Given the description of an element on the screen output the (x, y) to click on. 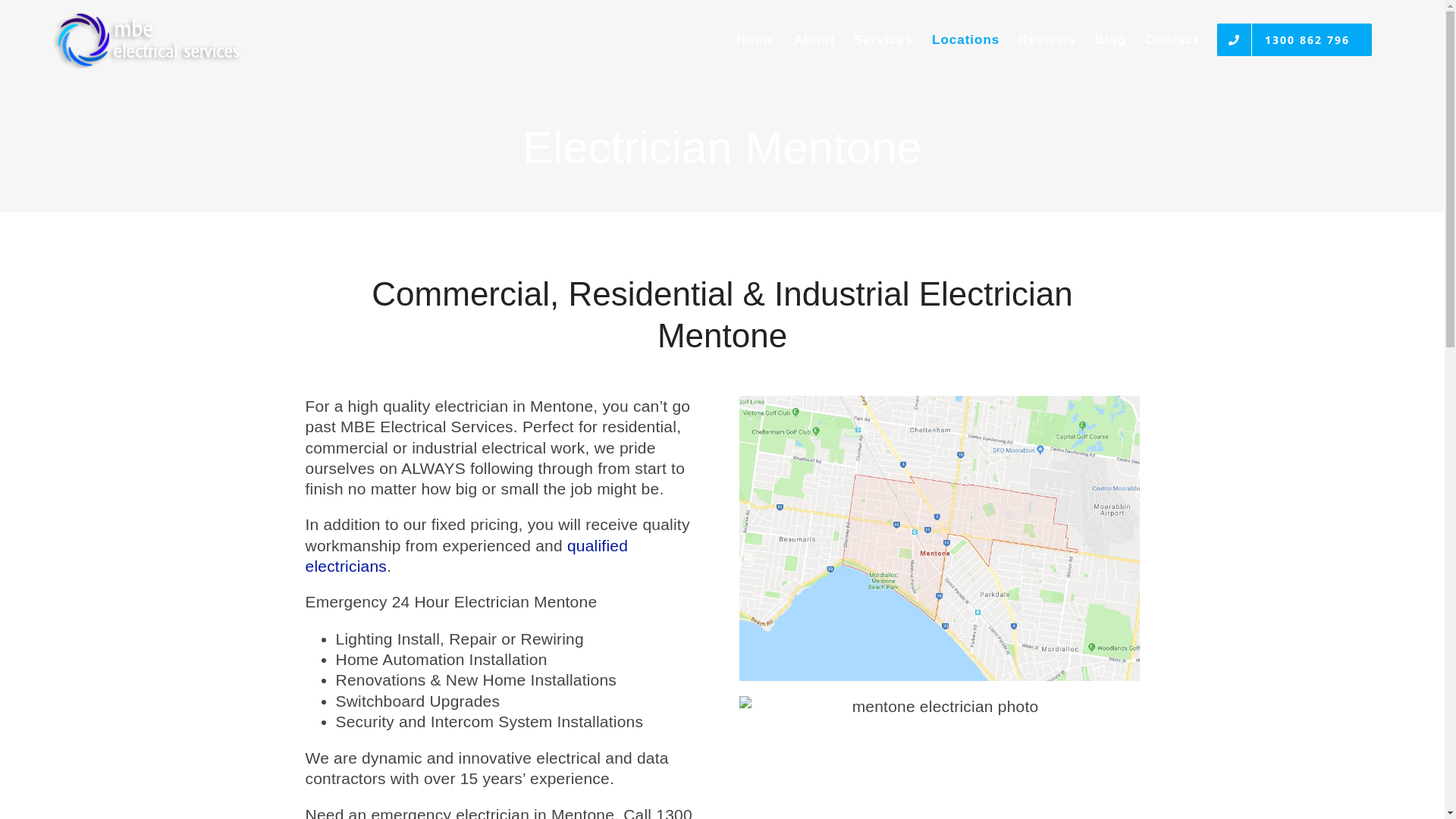
Contact Element type: text (1171, 39)
qualified electricians Element type: text (465, 555)
1300 862 796 Element type: text (1294, 39)
Services Element type: text (883, 39)
Blog Element type: text (1110, 39)
Home Element type: text (755, 39)
About Element type: text (813, 39)
Locations Element type: text (965, 39)
Reviews Element type: text (1046, 39)
